Given the description of an element on the screen output the (x, y) to click on. 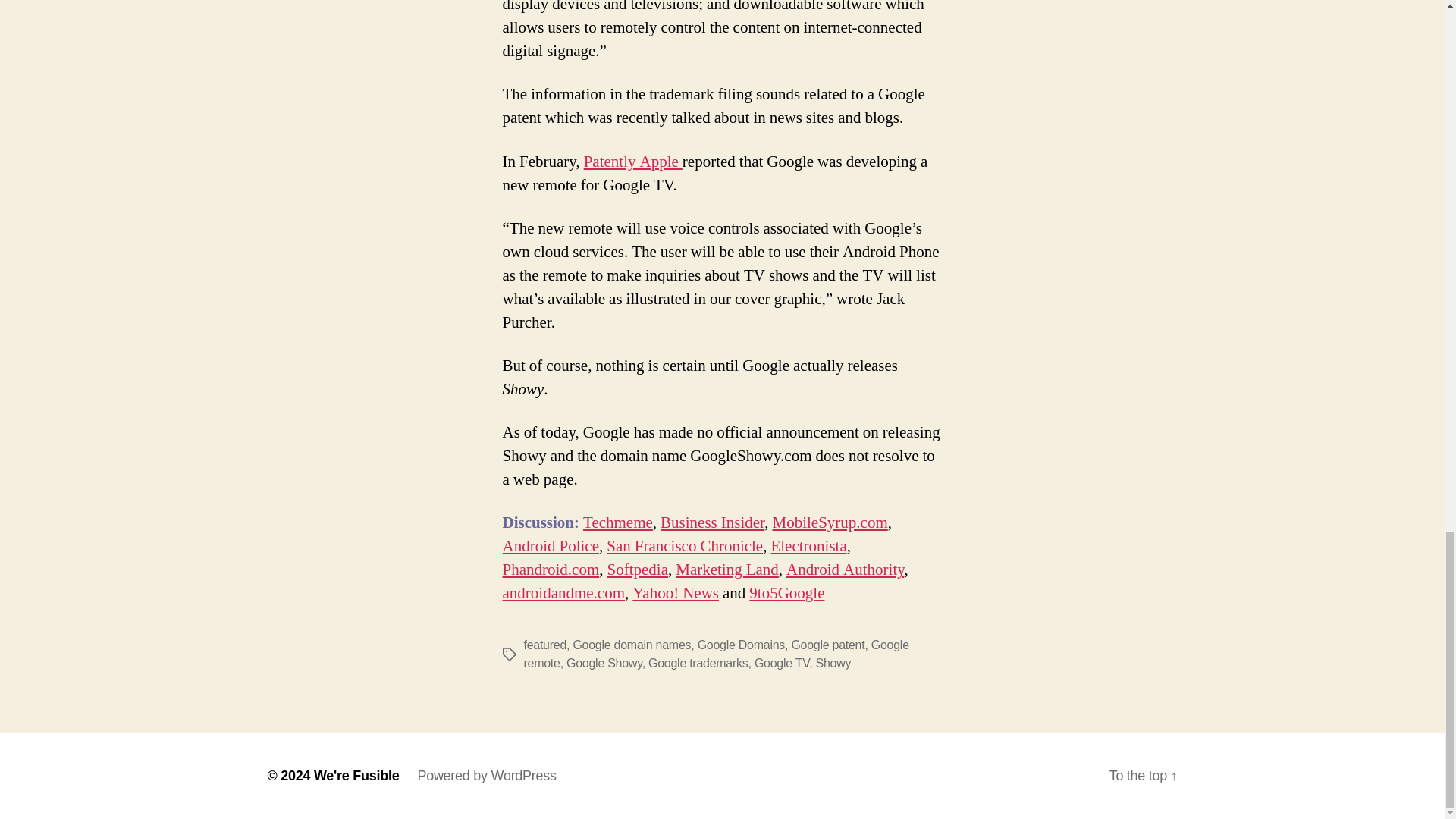
Phandroid.com (550, 569)
Techmeme (617, 522)
androidandme.com (563, 593)
Android Police (550, 546)
San Francisco Chronicle (684, 546)
Techmeme (617, 522)
Android Authority (845, 569)
Business Insider (712, 522)
Patently Apple (632, 161)
Yahoo! News (675, 593)
Marketing Land (726, 569)
MobileSyrup.com (830, 522)
Business Insider (712, 522)
Softpedia (636, 569)
Google Developing Siri-Like User Interface for Google TV (632, 161)
